Given the description of an element on the screen output the (x, y) to click on. 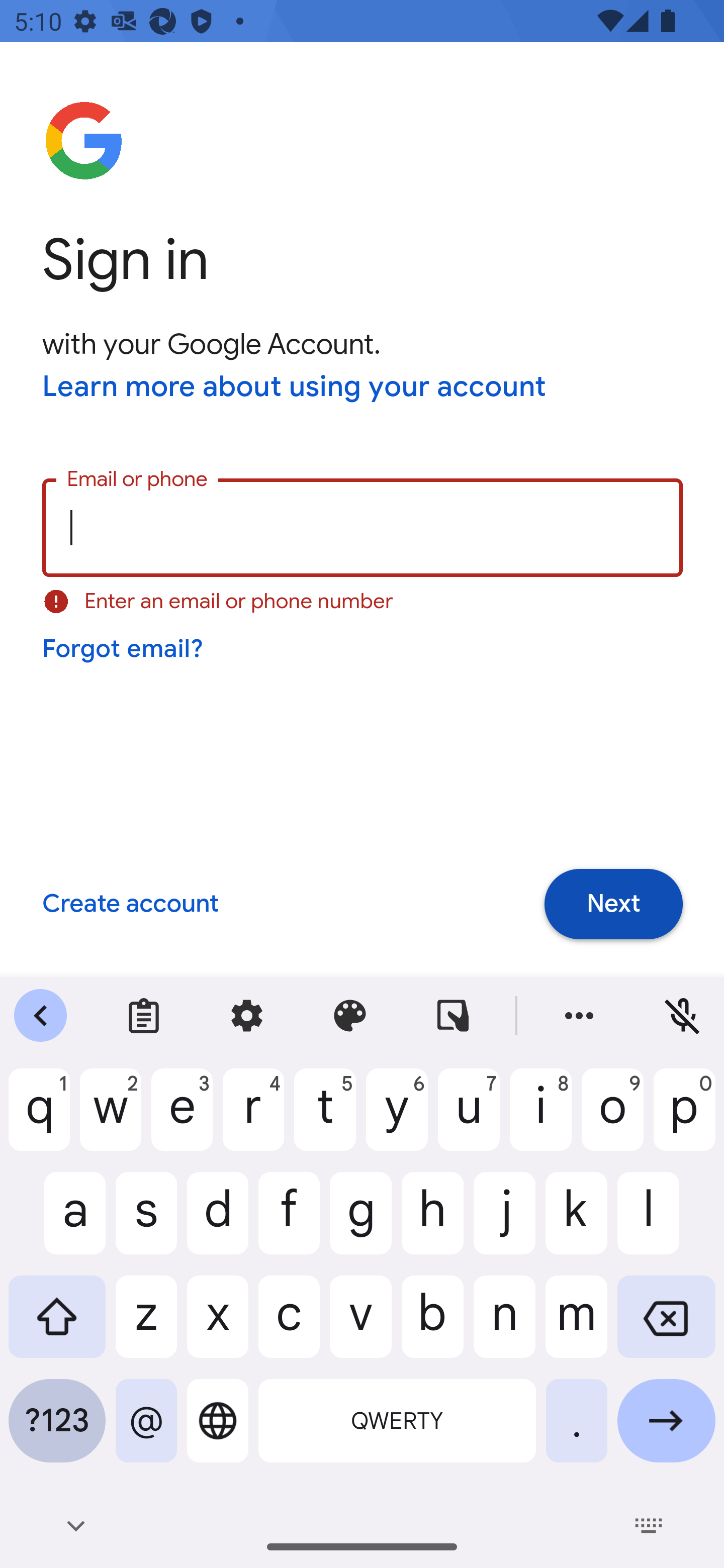
Learn more about using your account (294, 388)
Forgot email? (123, 648)
Create account (129, 904)
Next (613, 904)
